Given the description of an element on the screen output the (x, y) to click on. 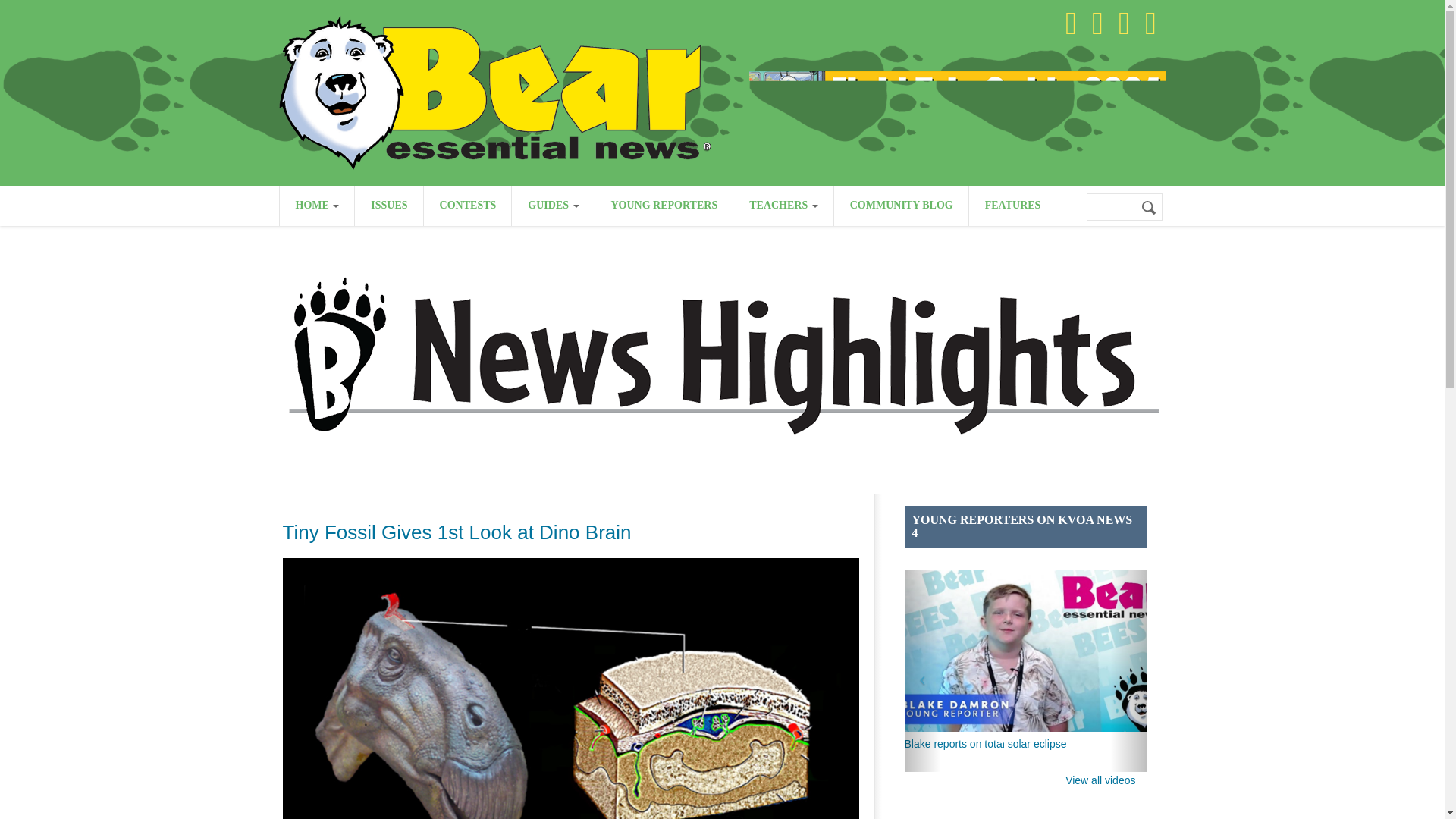
Search (1149, 207)
COMMUNITY BLOG (901, 205)
CONTESTS (467, 205)
Field Trip Guide 2024 (957, 96)
Home (495, 91)
GUIDES (553, 205)
YOUNG REPORTERS (663, 205)
TEACHERS (782, 205)
HOME (316, 205)
